Given the description of an element on the screen output the (x, y) to click on. 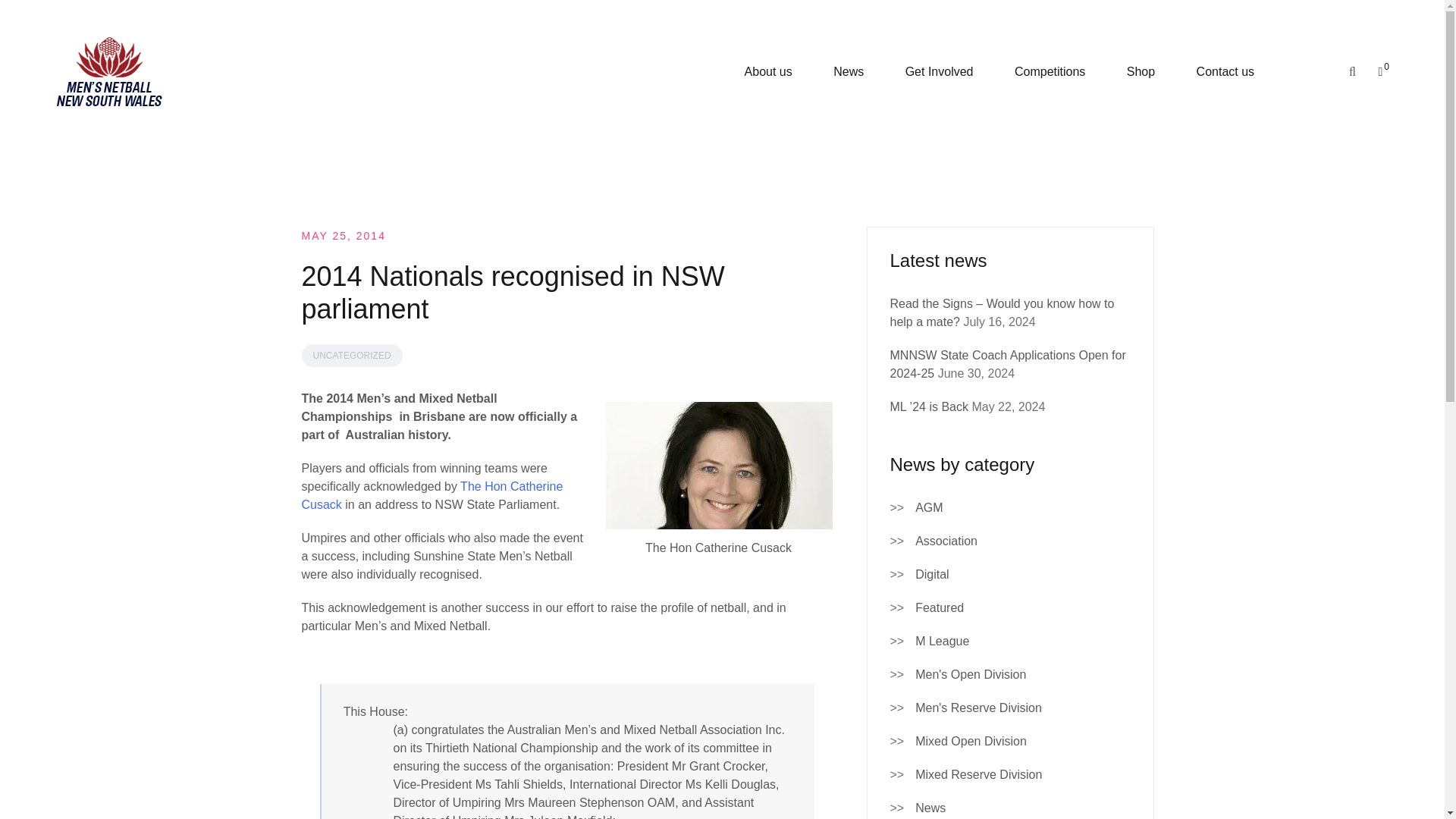
Featured (939, 607)
MNNSW State Coach Applications Open for 2024-25 (1007, 364)
MAY 25, 2014 (343, 235)
The Hon Catherine Cusack (432, 495)
Association (945, 541)
Shop (1140, 72)
Competitions (1049, 72)
Get Involved (939, 72)
Digital (932, 574)
News (847, 72)
AGM (928, 507)
Contact us (1224, 72)
M League (942, 641)
About us (768, 72)
UNCATEGORIZED (352, 354)
